Given the description of an element on the screen output the (x, y) to click on. 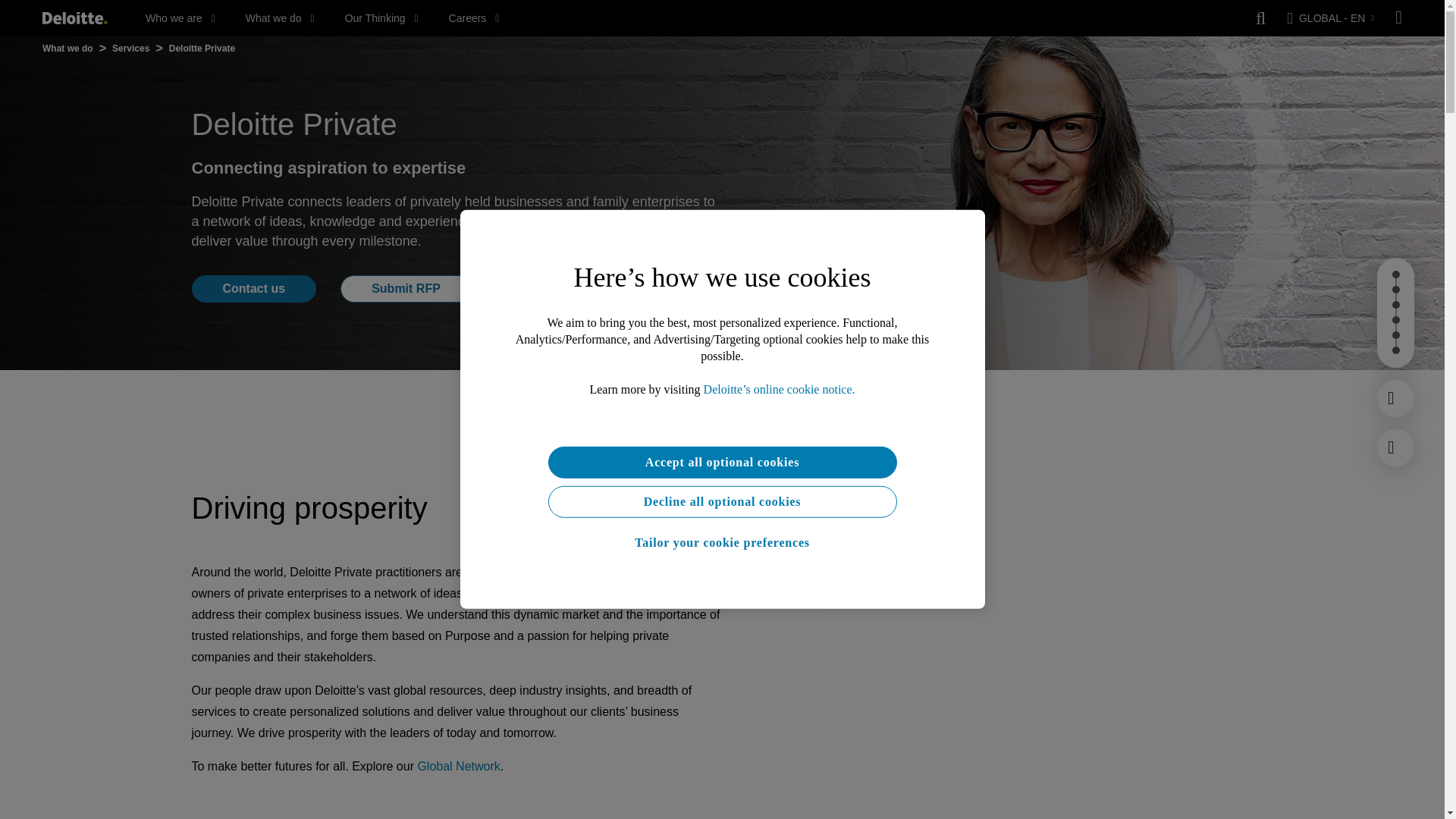
What we do (280, 18)
Our Thinking (382, 18)
Deloitte (74, 18)
Who we are (180, 18)
Careers (473, 18)
